Given the description of an element on the screen output the (x, y) to click on. 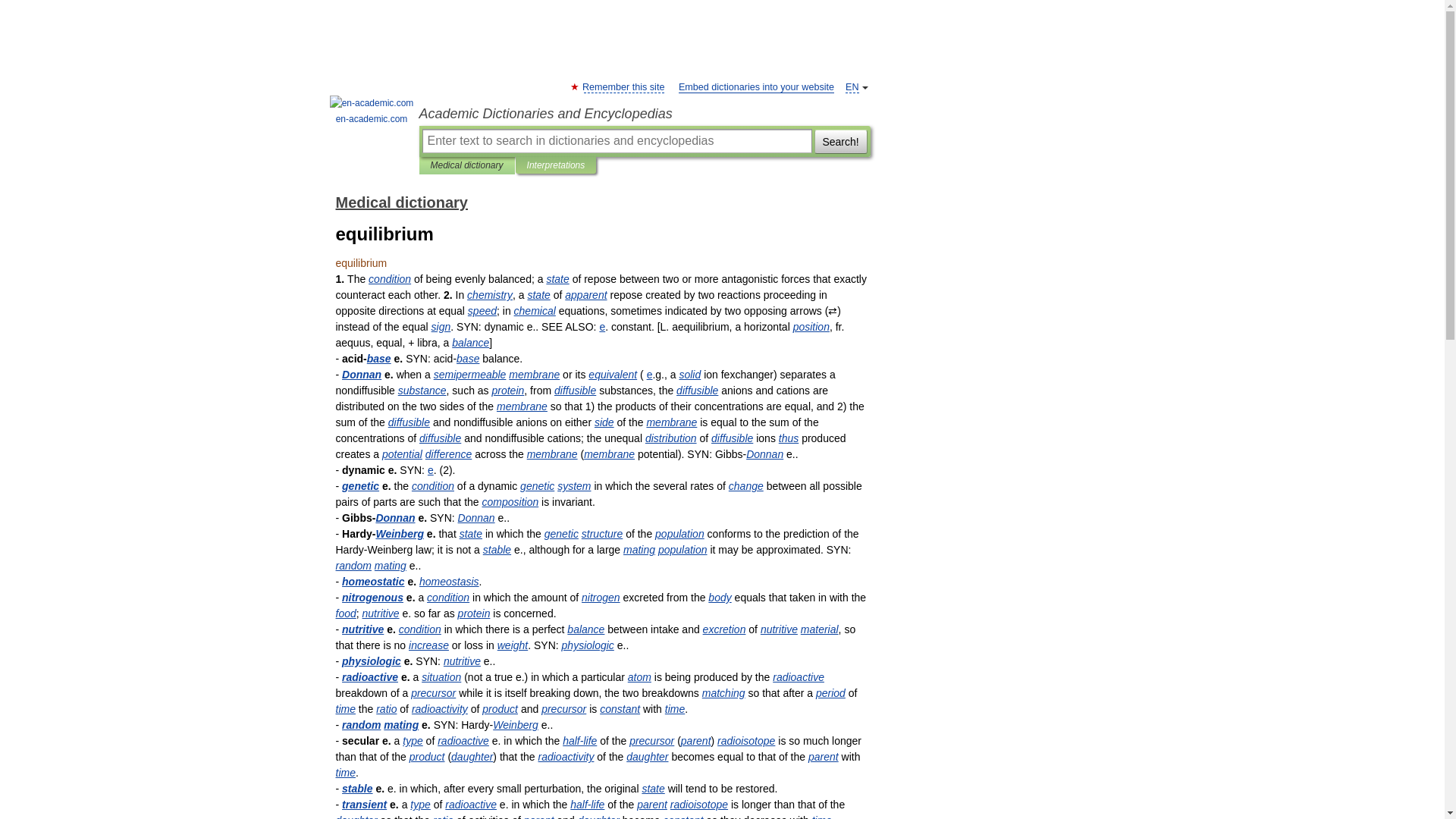
chemical (534, 310)
membrane (533, 374)
semipermeable (469, 374)
Search! (840, 140)
condition (389, 278)
chemistry (489, 295)
Medical dictionary (466, 165)
position (811, 326)
apparent (585, 295)
sign (440, 326)
